Given the description of an element on the screen output the (x, y) to click on. 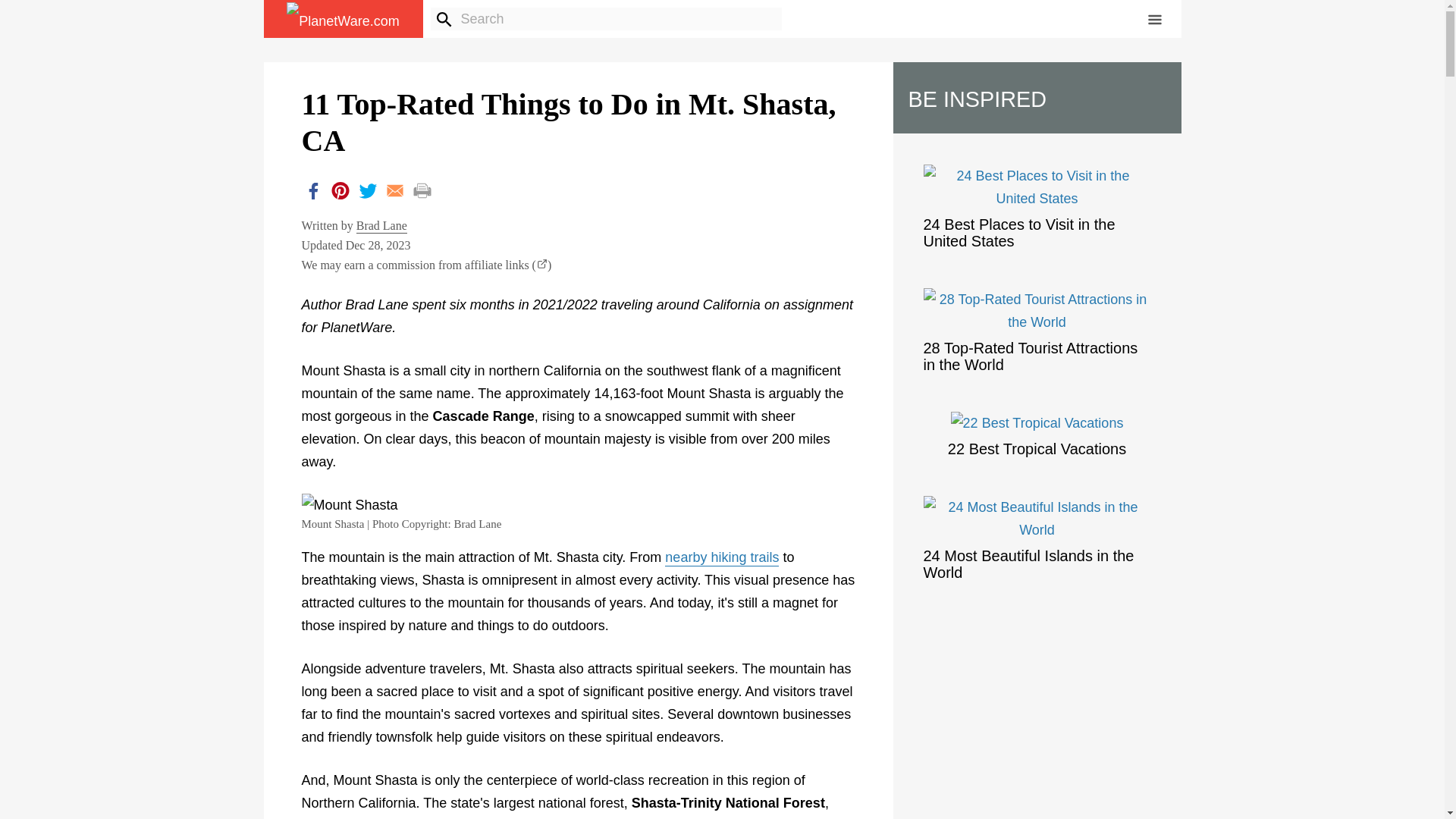
Brad Lane (381, 226)
nearby hiking trails (721, 557)
